Given the description of an element on the screen output the (x, y) to click on. 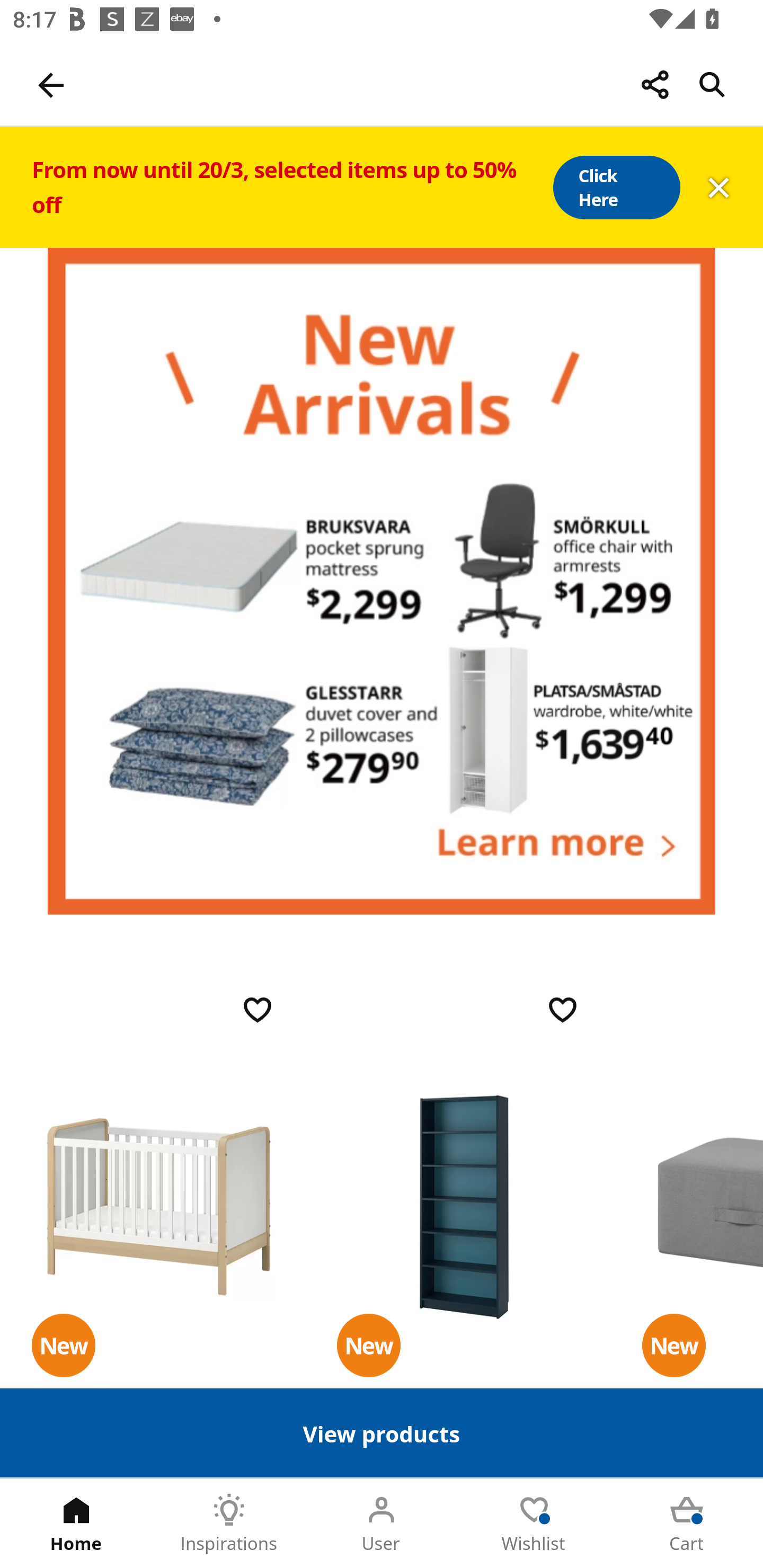
Click Here (615, 187)
newitems#shop-now (381, 580)
ÄLSKVÄRD (159, 1206)
BILLY (464, 1206)
View products (381, 1432)
Home
Tab 1 of 5 (76, 1522)
Inspirations
Tab 2 of 5 (228, 1522)
User
Tab 3 of 5 (381, 1522)
Wishlist
Tab 4 of 5 (533, 1522)
Cart
Tab 5 of 5 (686, 1522)
